Given the description of an element on the screen output the (x, y) to click on. 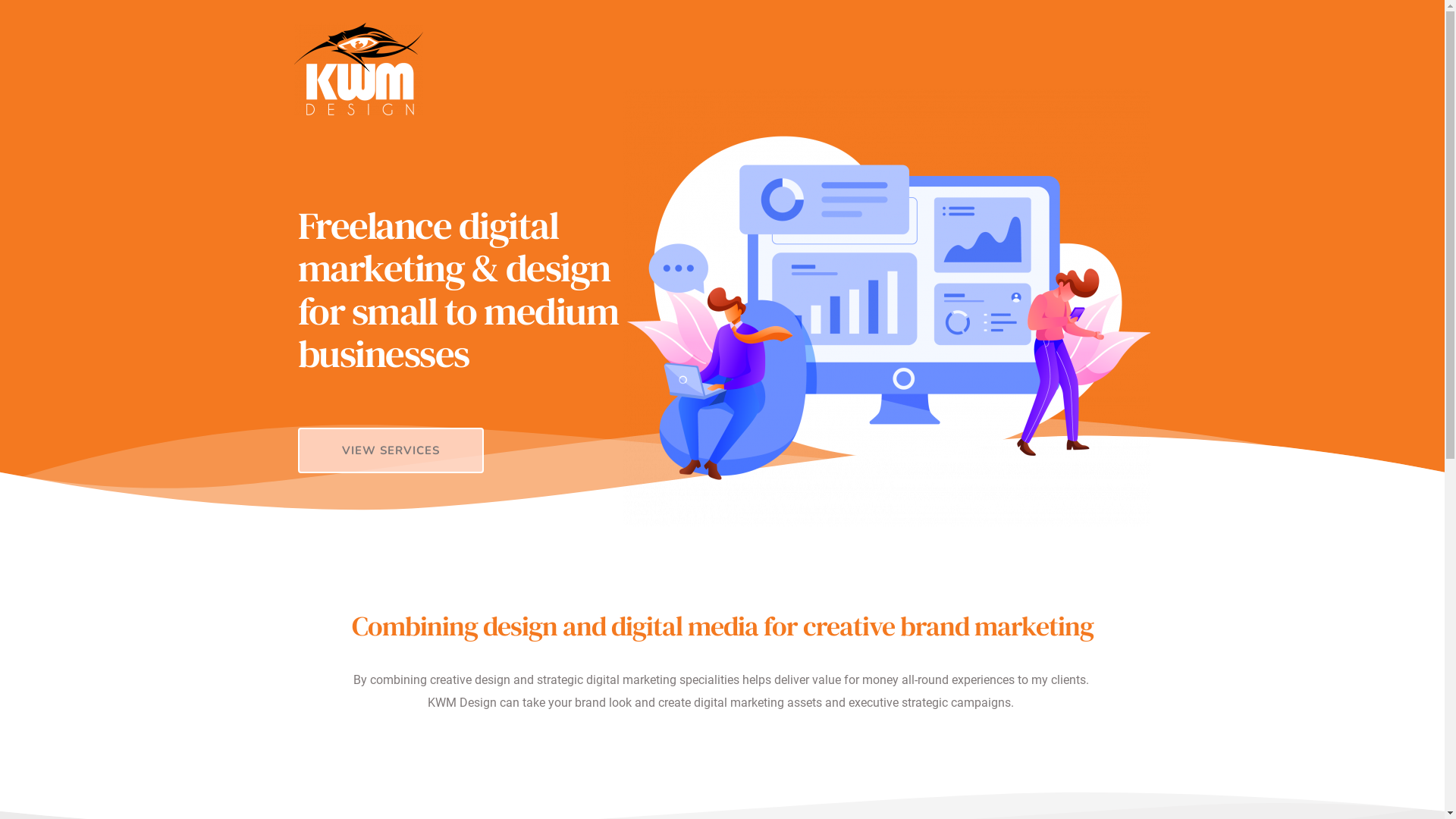
VIEW SERVICES Element type: text (390, 450)
